Given the description of an element on the screen output the (x, y) to click on. 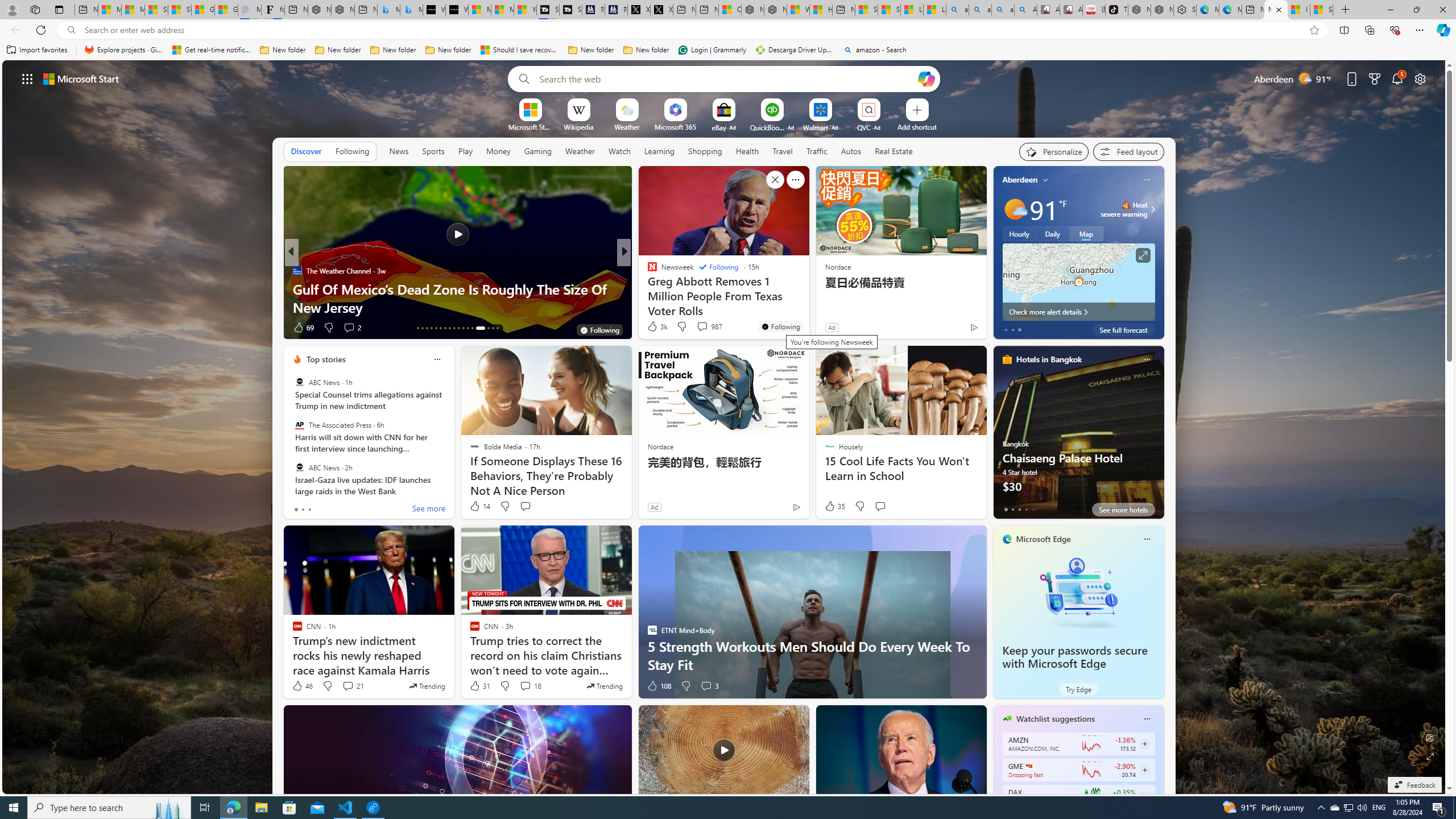
Address and search bar (692, 29)
Nordace Siena Pro 15 Backpack (1161, 9)
You're following The Weather Channel (599, 329)
Check more alert details (1077, 311)
All Cubot phones (1071, 9)
79 Like (652, 327)
Hide this story (774, 179)
GAMESTOP CORP. (1028, 765)
Shanghai, China weather forecast | Microsoft Weather (179, 9)
You're following FOX News (949, 329)
Add a site (916, 126)
